Given the description of an element on the screen output the (x, y) to click on. 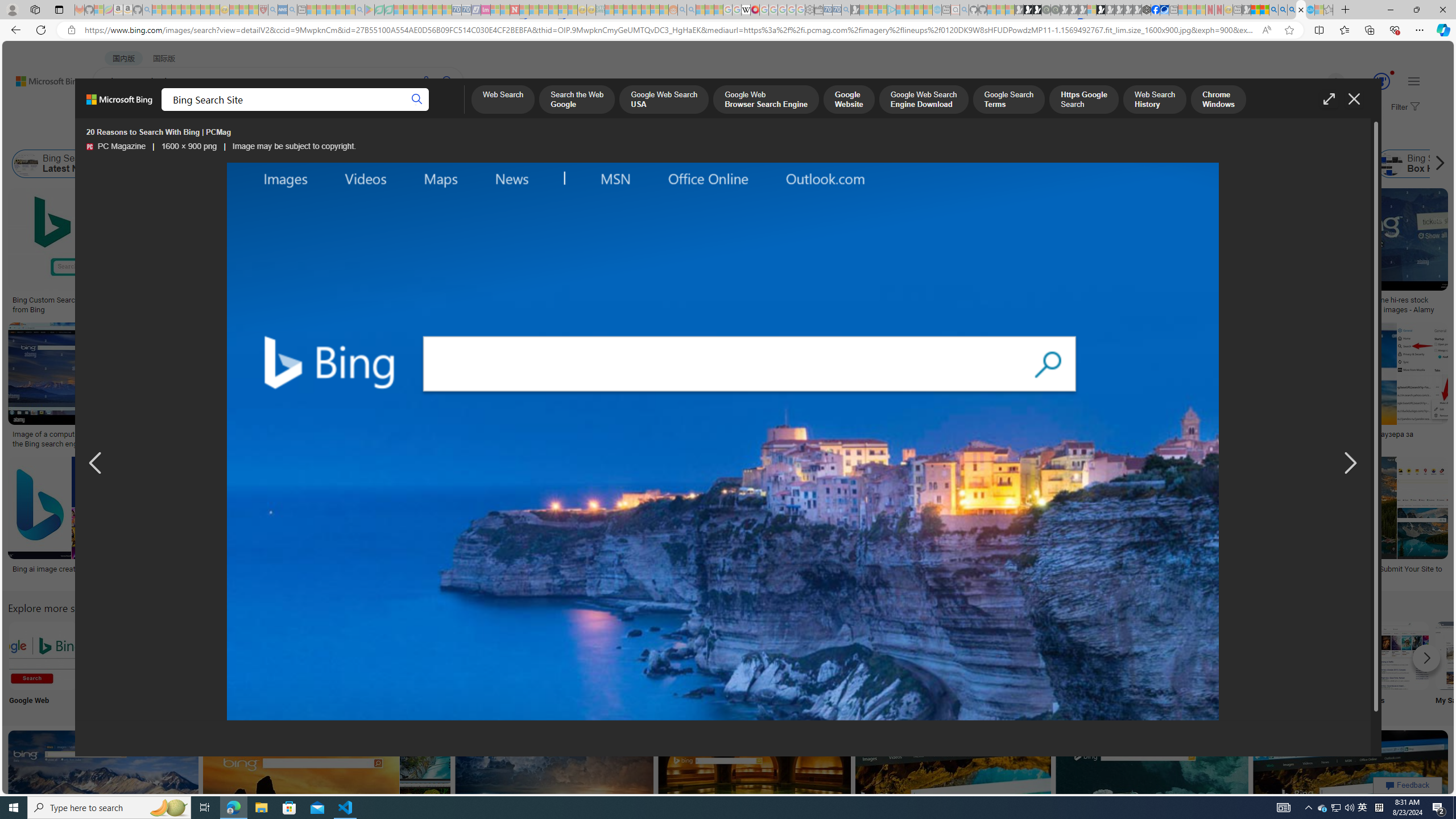
Bluey: Let's Play! - Apps on Google Play - Sleeping (369, 9)
Old Bing (925, 163)
Bing Search Engine Homepage (1102, 163)
Bing Web (1245, 163)
FIX: Downloading proxy script message on Google Chrome (526, 573)
